Given the description of an element on the screen output the (x, y) to click on. 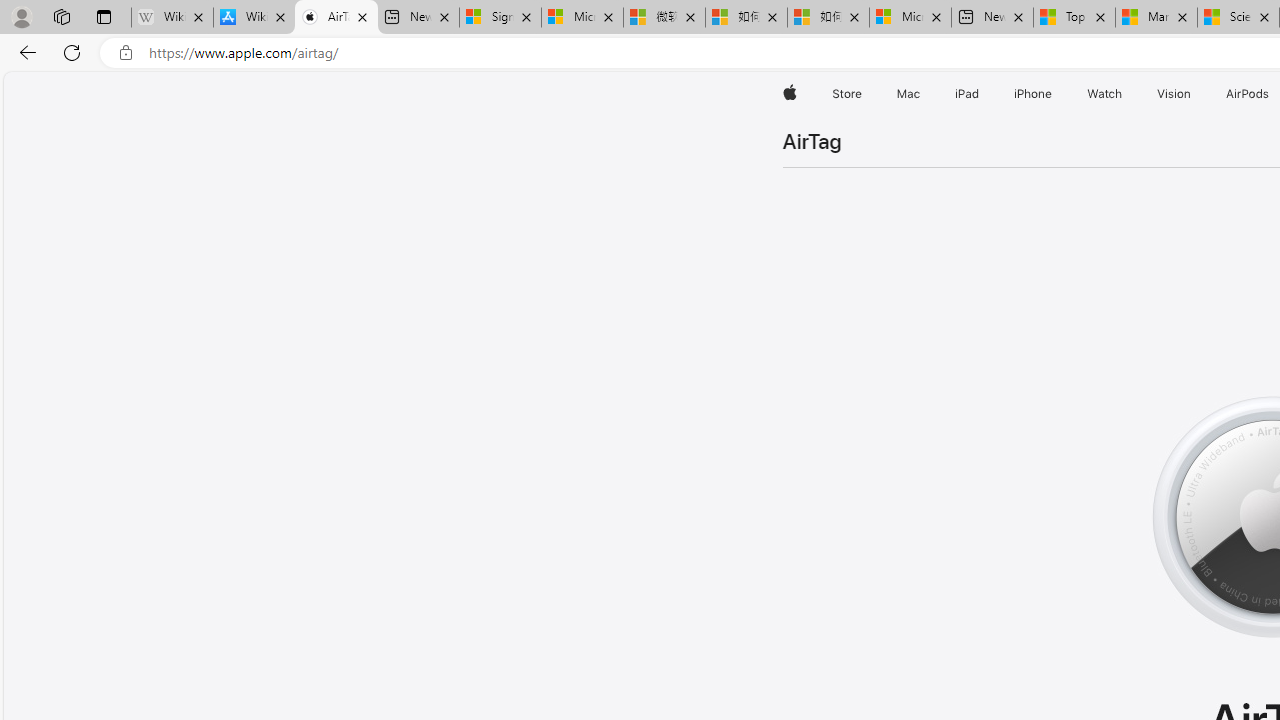
Wikipedia - Sleeping (171, 17)
Apple (789, 93)
Watch (1105, 93)
AirPods (1247, 93)
iPhone (1033, 93)
Marine life - MSN (1156, 17)
Apple (789, 93)
Watch (1105, 93)
Mac menu (922, 93)
Store menu (864, 93)
Sign in to your Microsoft account (500, 17)
